Given the description of an element on the screen output the (x, y) to click on. 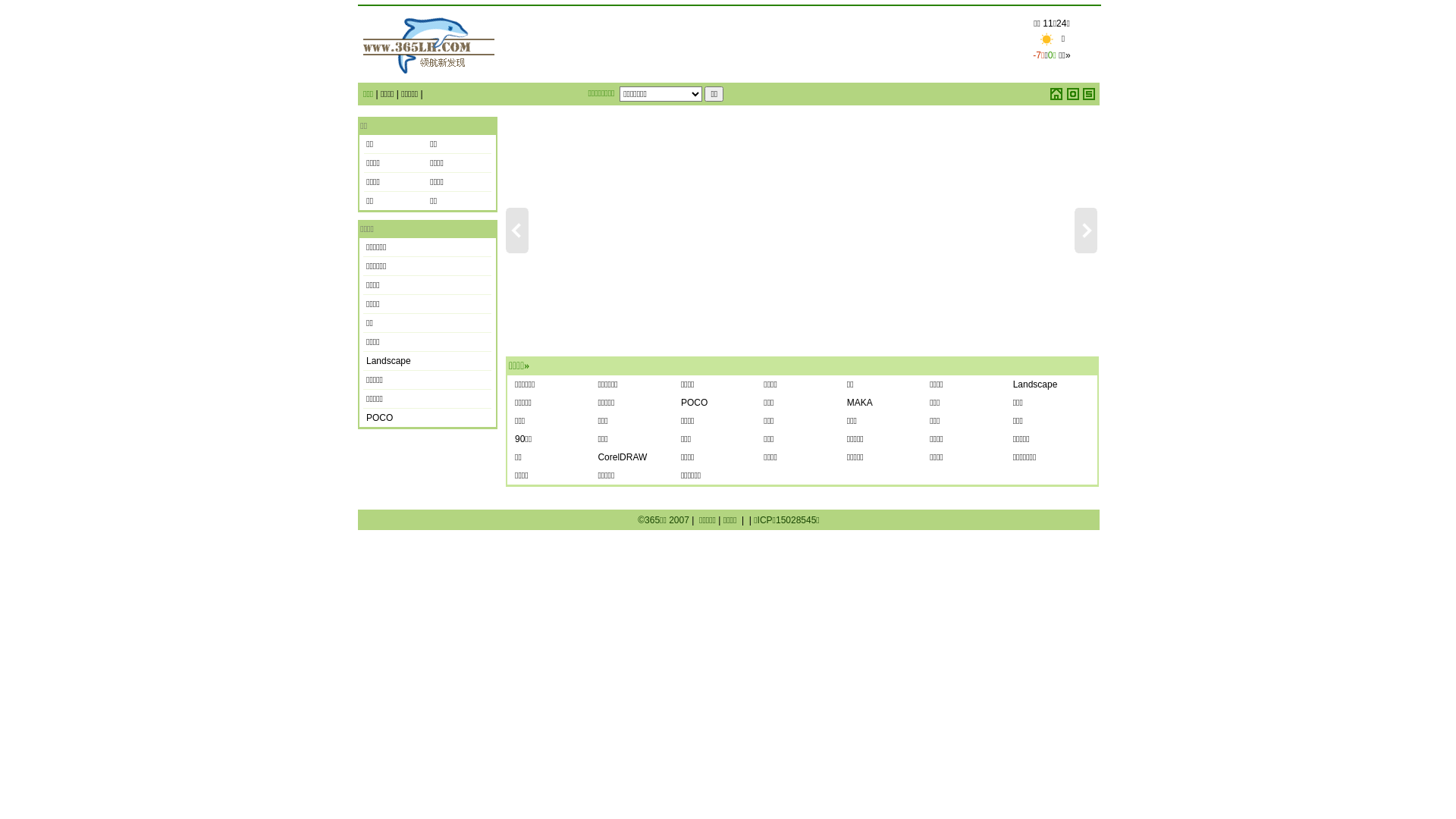
Landscape Element type: text (1035, 384)
POCO Element type: text (693, 402)
MAKA Element type: text (859, 402)
Landscape Element type: text (388, 360)
POCO Element type: text (379, 417)
CorelDRAW Element type: text (621, 456)
